Given the description of an element on the screen output the (x, y) to click on. 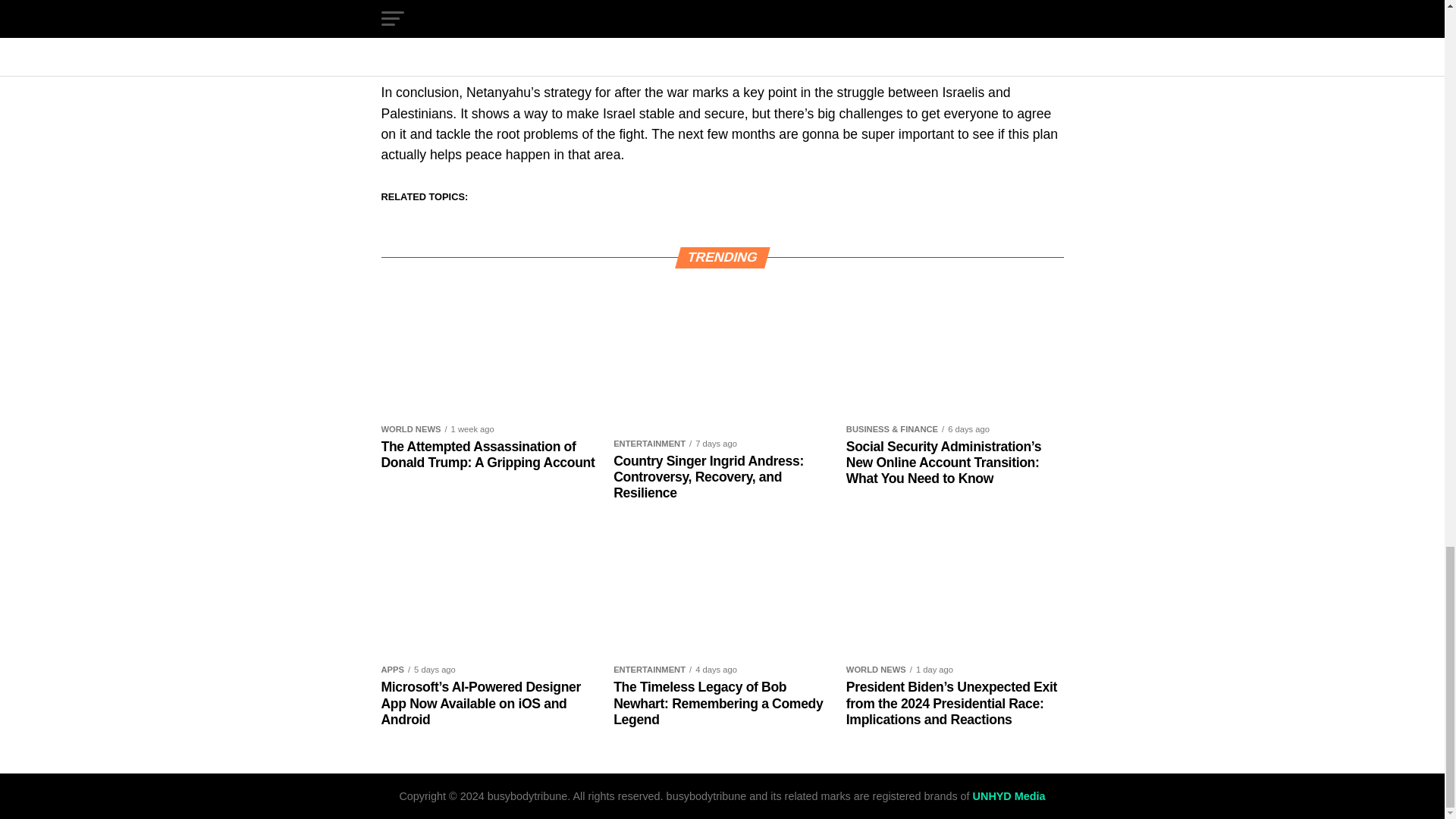
UNHYD Media (1008, 796)
